Given the description of an element on the screen output the (x, y) to click on. 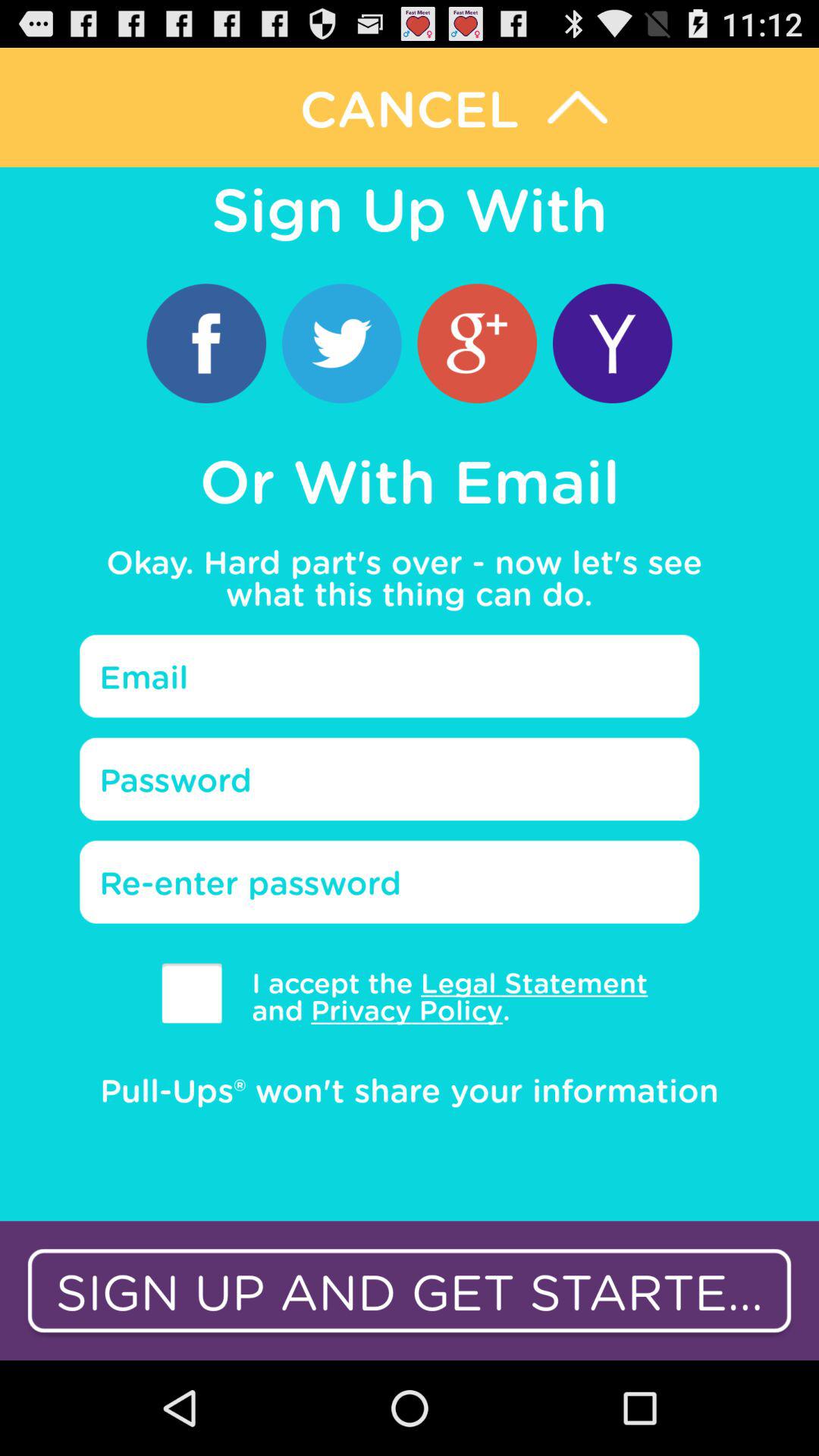
turn on icon next to i accept the (191, 993)
